Given the description of an element on the screen output the (x, y) to click on. 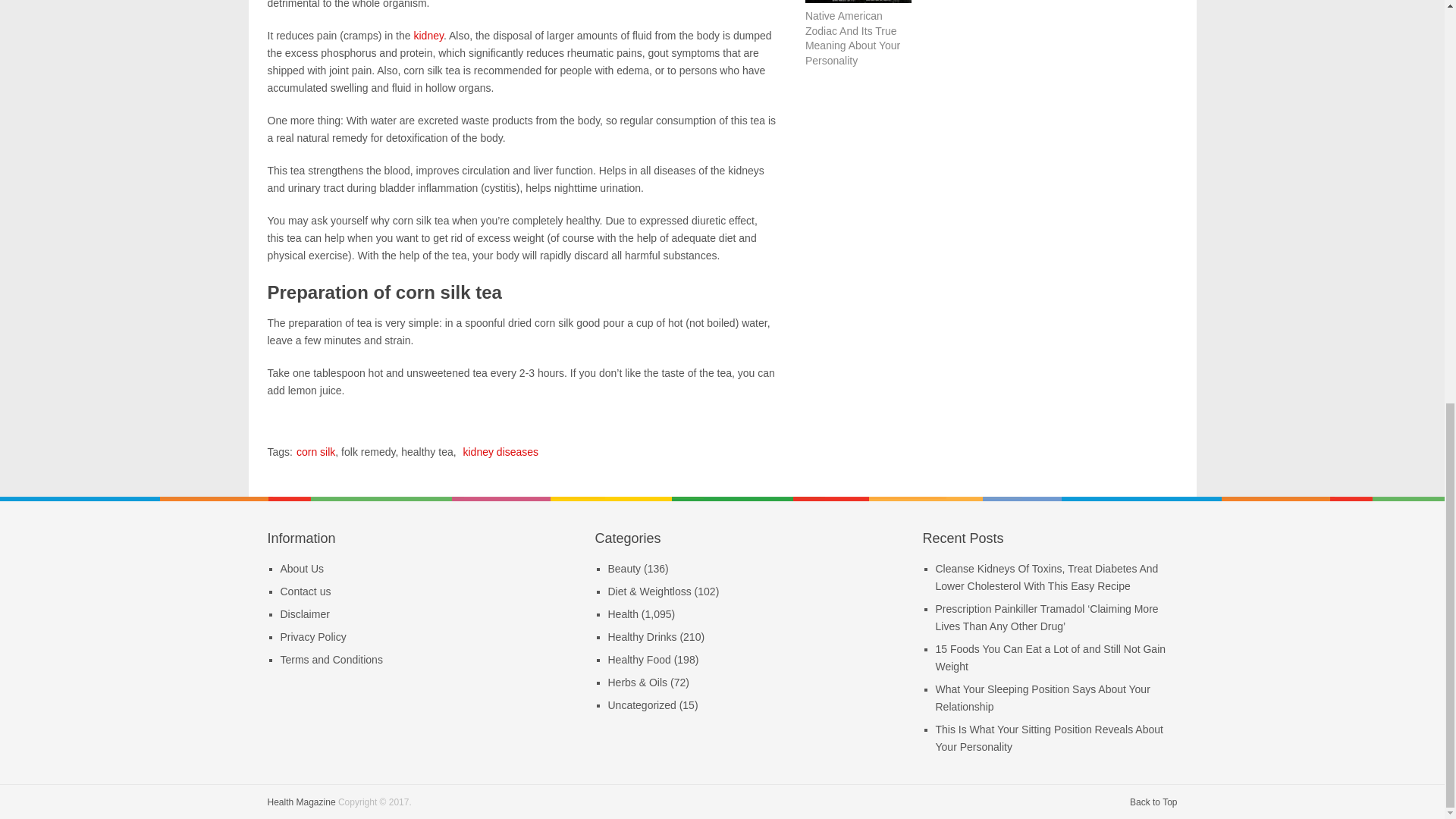
Disclaimer (305, 613)
Your guidance for healthy life! (300, 801)
Beauty (625, 568)
Terms and Conditions (331, 659)
Health (623, 613)
kidney (427, 35)
Privacy Policy (313, 636)
About Us (302, 568)
kidney diseases (500, 451)
corn silk (315, 451)
Contact us (306, 591)
Healthy Drinks (642, 636)
